Given the description of an element on the screen output the (x, y) to click on. 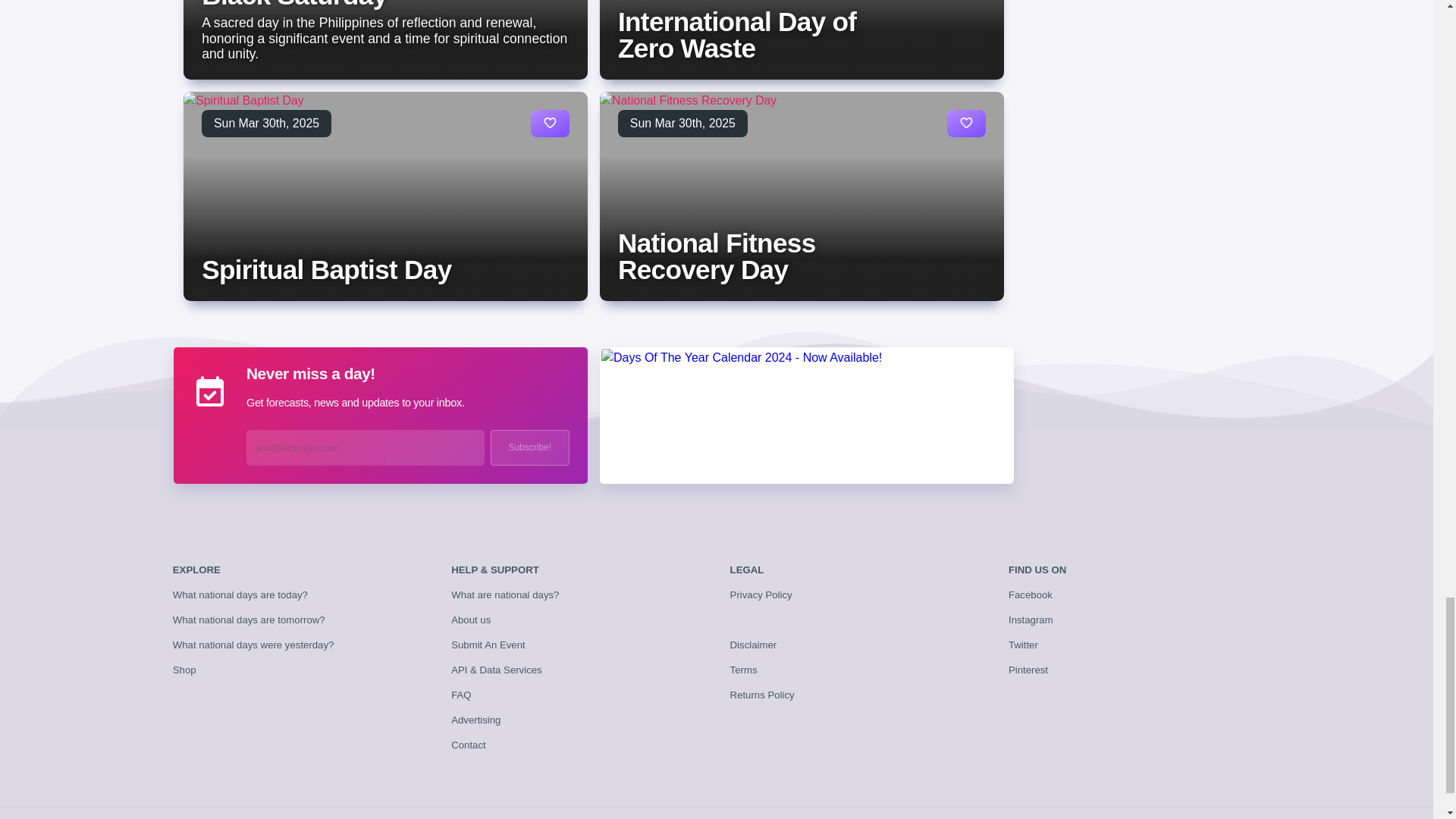
What are national days? (505, 594)
International Day of Zero Waste (736, 34)
Facebook (1030, 594)
Submit An Event (488, 644)
Pinterest (1028, 669)
Spiritual Baptist Day (326, 269)
Shop (184, 669)
What national days are today? (240, 594)
National Fitness Recovery Day (716, 256)
Subscribe! (529, 447)
